Given the description of an element on the screen output the (x, y) to click on. 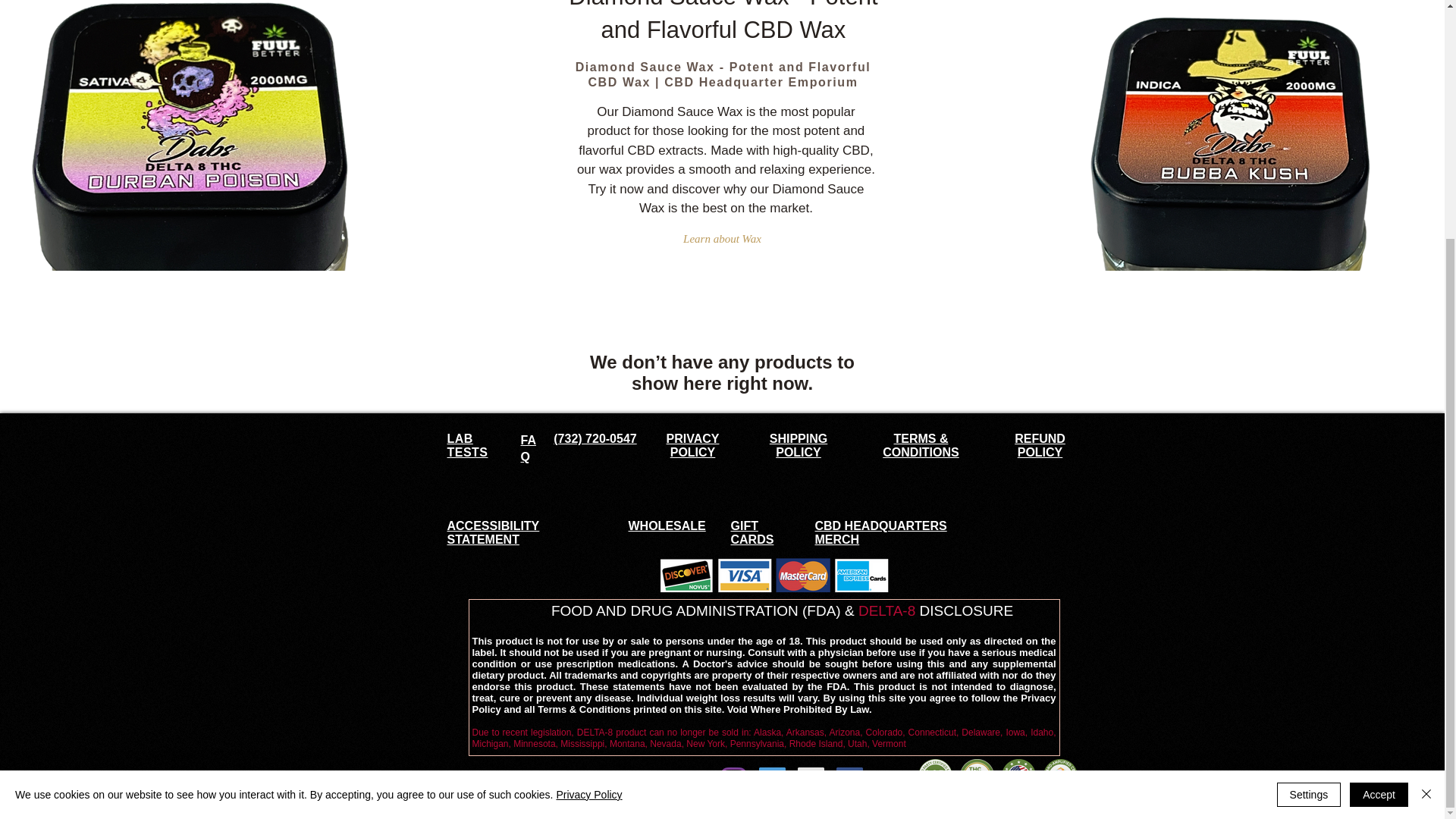
REFUND POLICY (1039, 445)
ACCESSIBILITY STATEMENT (493, 532)
Powered By MM E-SOLUTIONS (534, 780)
GIFT CARDS (752, 532)
CBD HEADQUARTERS MERCH (879, 532)
WHOLESALE (665, 525)
PRIVACY POLICY (692, 445)
Learn about Wax (722, 239)
SHIPPING POLICY (798, 445)
LAB TESTS (466, 445)
